Given the description of an element on the screen output the (x, y) to click on. 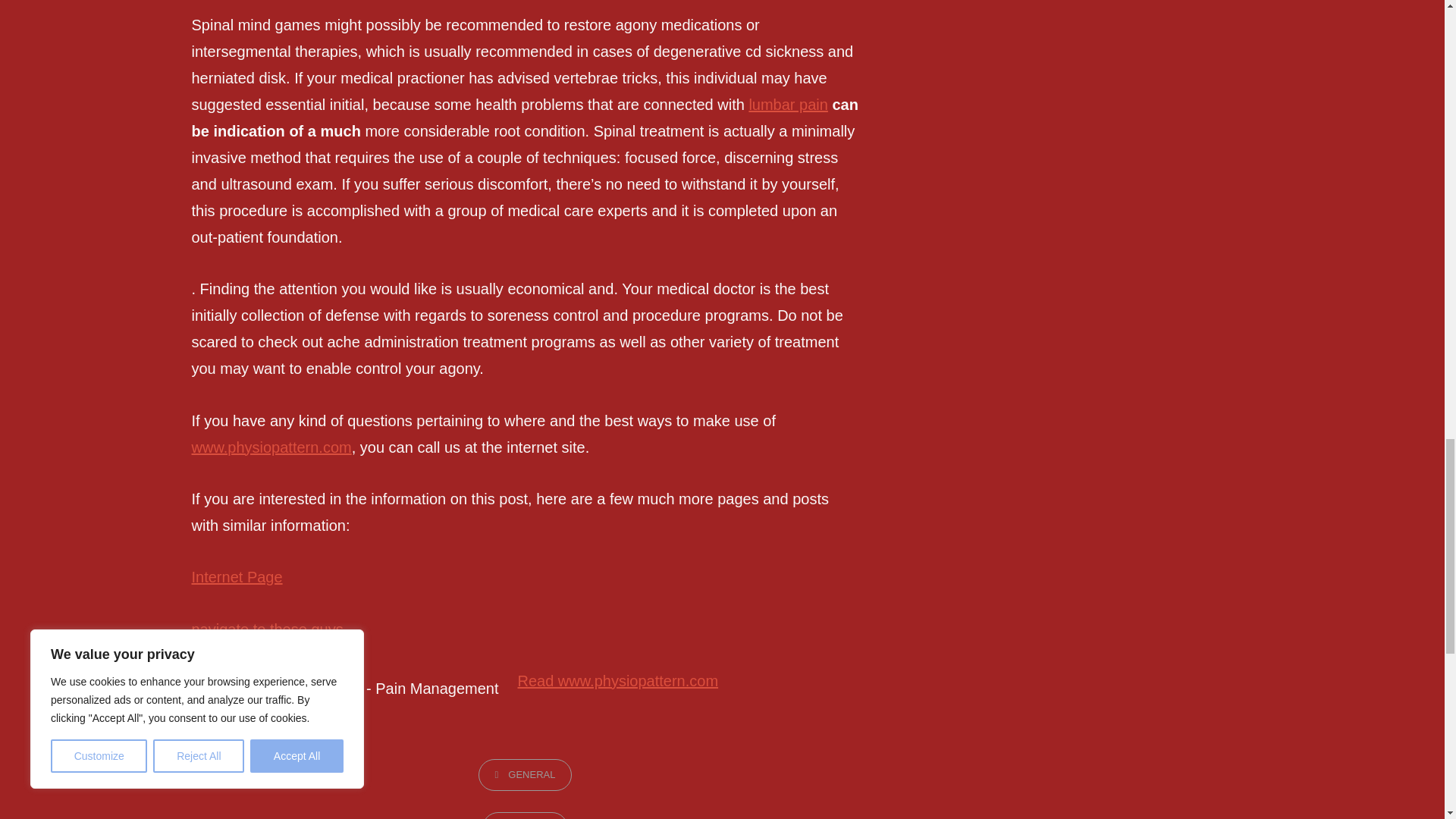
www.physiopattern.com (270, 446)
MAKING (524, 815)
lumbar pain (788, 104)
Internet Page (236, 576)
GENERAL (525, 775)
Read www.physiopattern.com (616, 680)
navigate to these guys (266, 629)
